Given the description of an element on the screen output the (x, y) to click on. 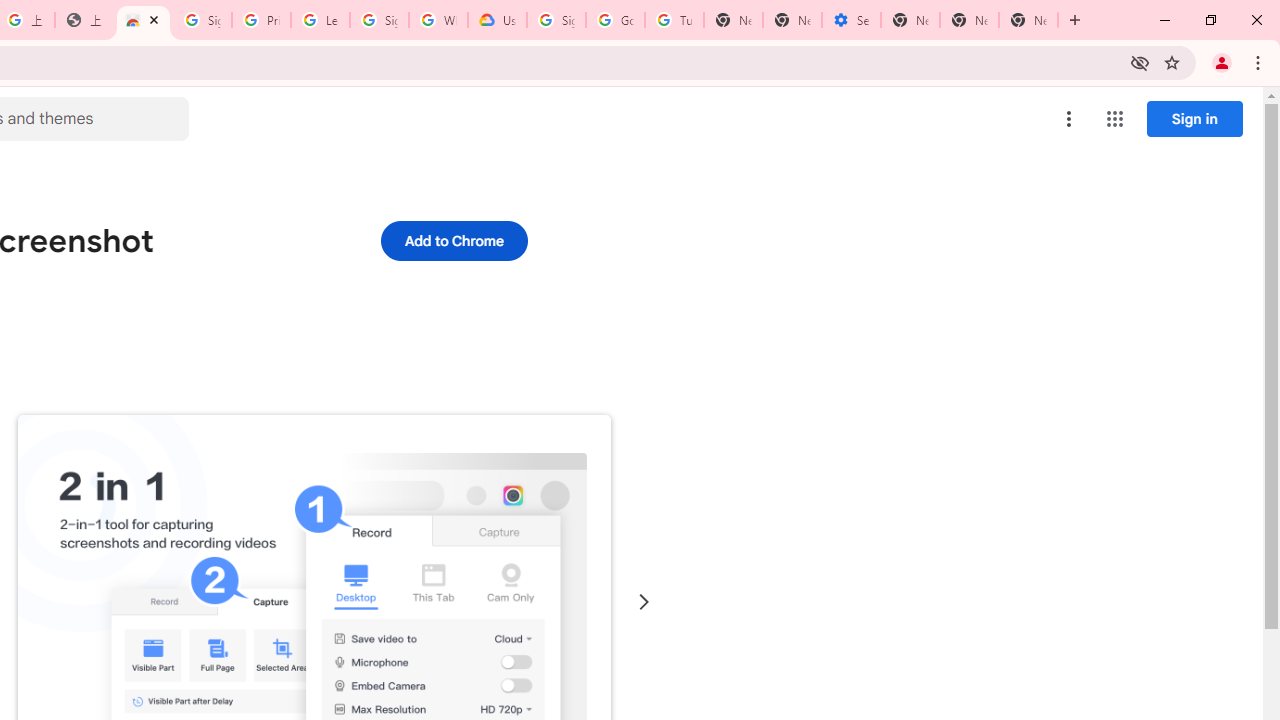
New Tab (909, 20)
Settings - Addresses and more (850, 20)
Who are Google's partners? - Privacy and conditions - Google (438, 20)
Awesome Screen Recorder & Screenshot - Chrome Web Store (142, 20)
Sign in - Google Accounts (201, 20)
Sign in - Google Accounts (556, 20)
Turn cookies on or off - Computer - Google Account Help (674, 20)
